Given the description of an element on the screen output the (x, y) to click on. 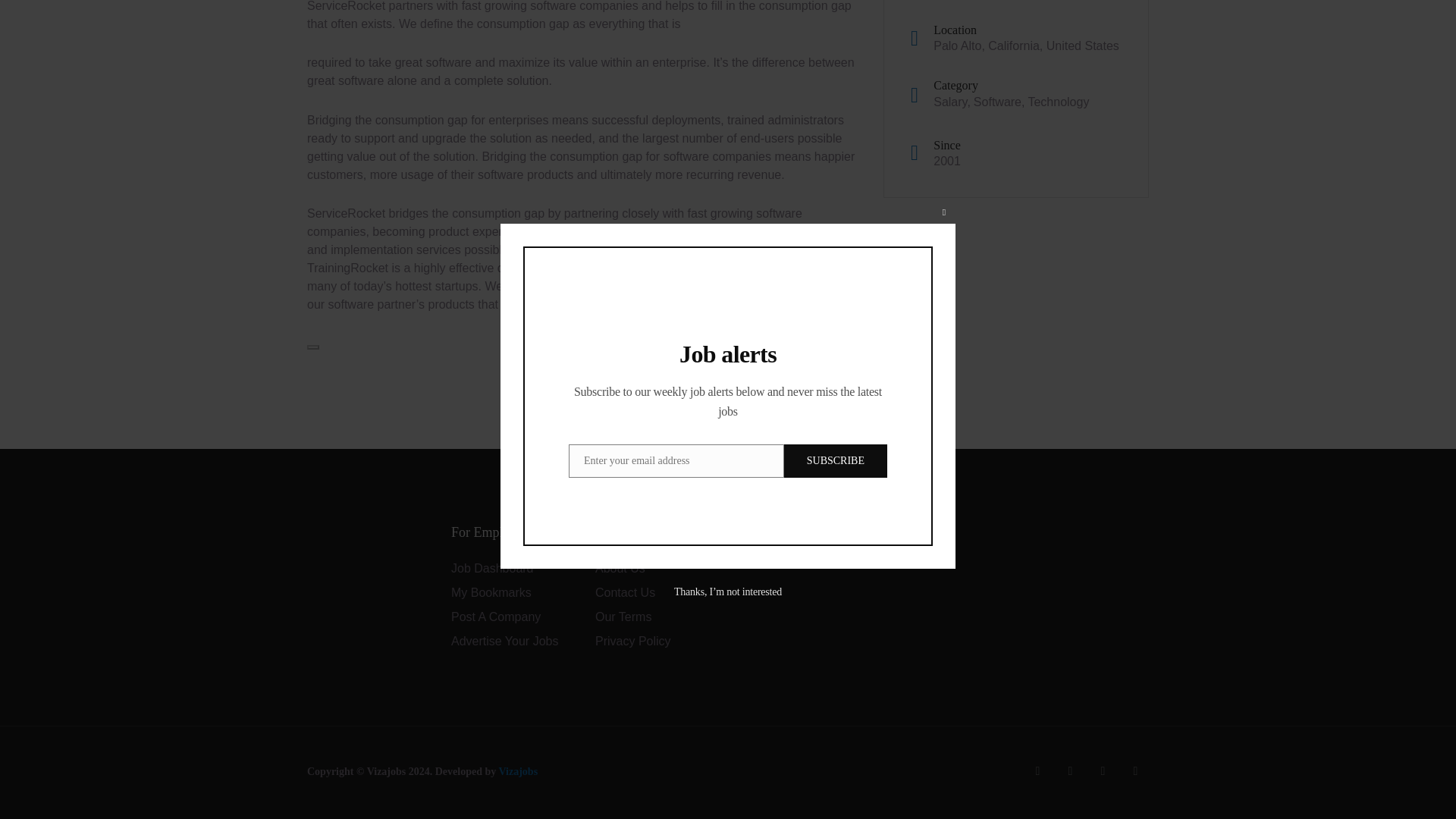
Technology (1058, 101)
Software (998, 101)
Palo Alto, California, United States (1026, 45)
Salary (949, 101)
